Given the description of an element on the screen output the (x, y) to click on. 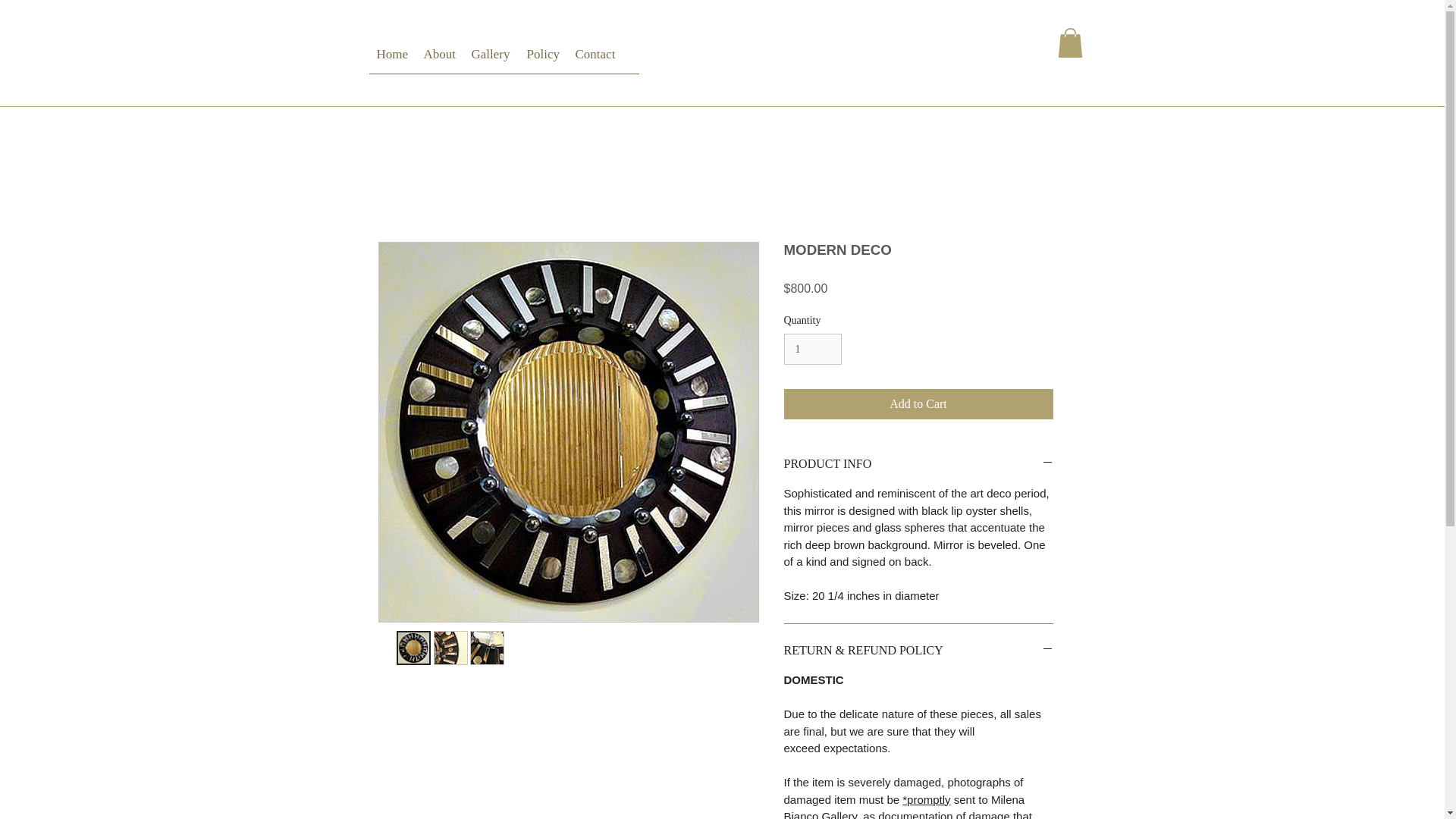
1 (812, 348)
Gallery (491, 59)
Policy (542, 59)
PRODUCT INFO (918, 463)
Add to Cart (918, 404)
About (438, 59)
Contact (595, 59)
Home (391, 59)
